Given the description of an element on the screen output the (x, y) to click on. 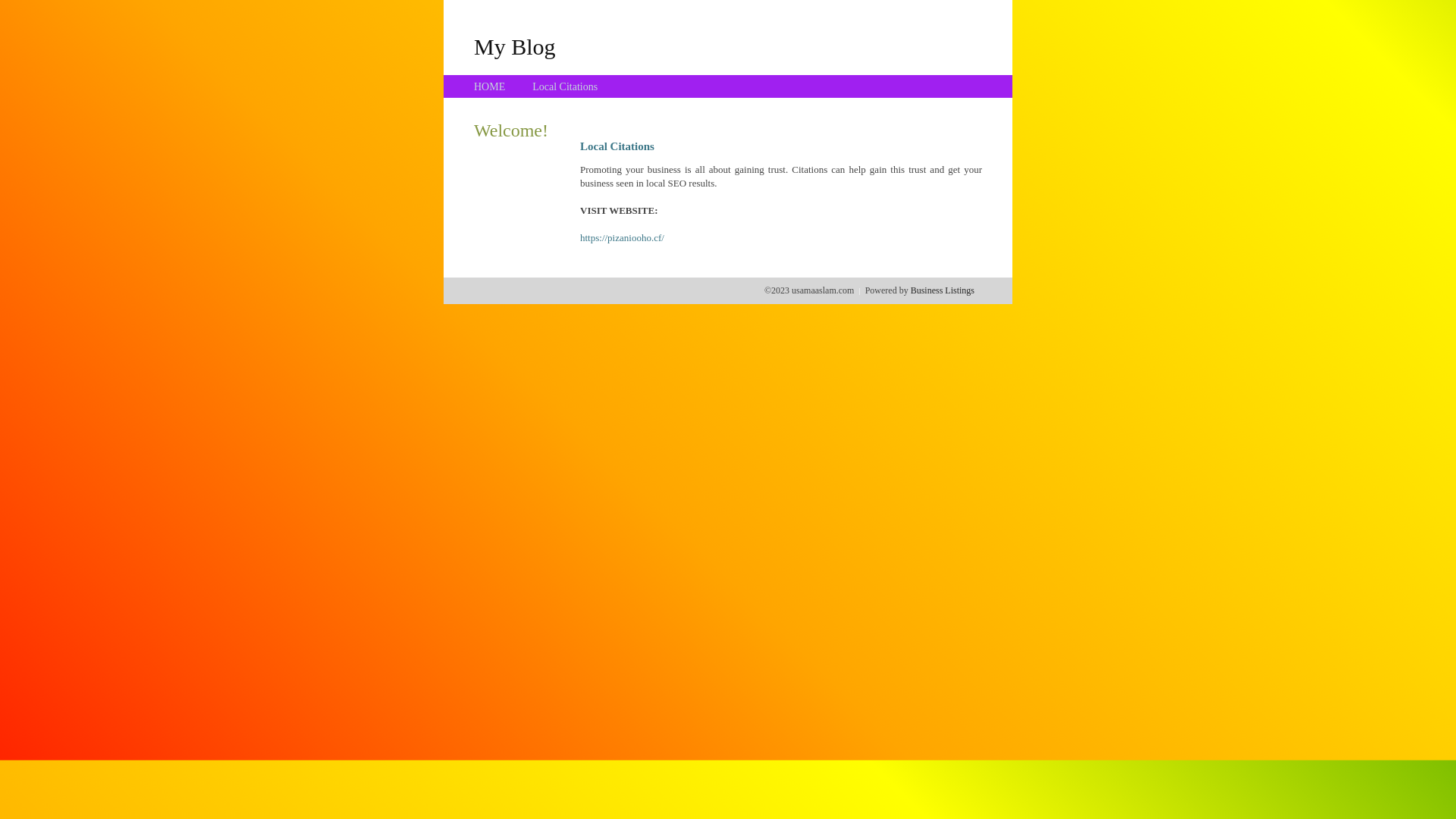
HOME Element type: text (489, 86)
Business Listings Element type: text (942, 290)
My Blog Element type: text (514, 46)
Local Citations Element type: text (564, 86)
https://pizaniooho.cf/ Element type: text (622, 237)
